Given the description of an element on the screen output the (x, y) to click on. 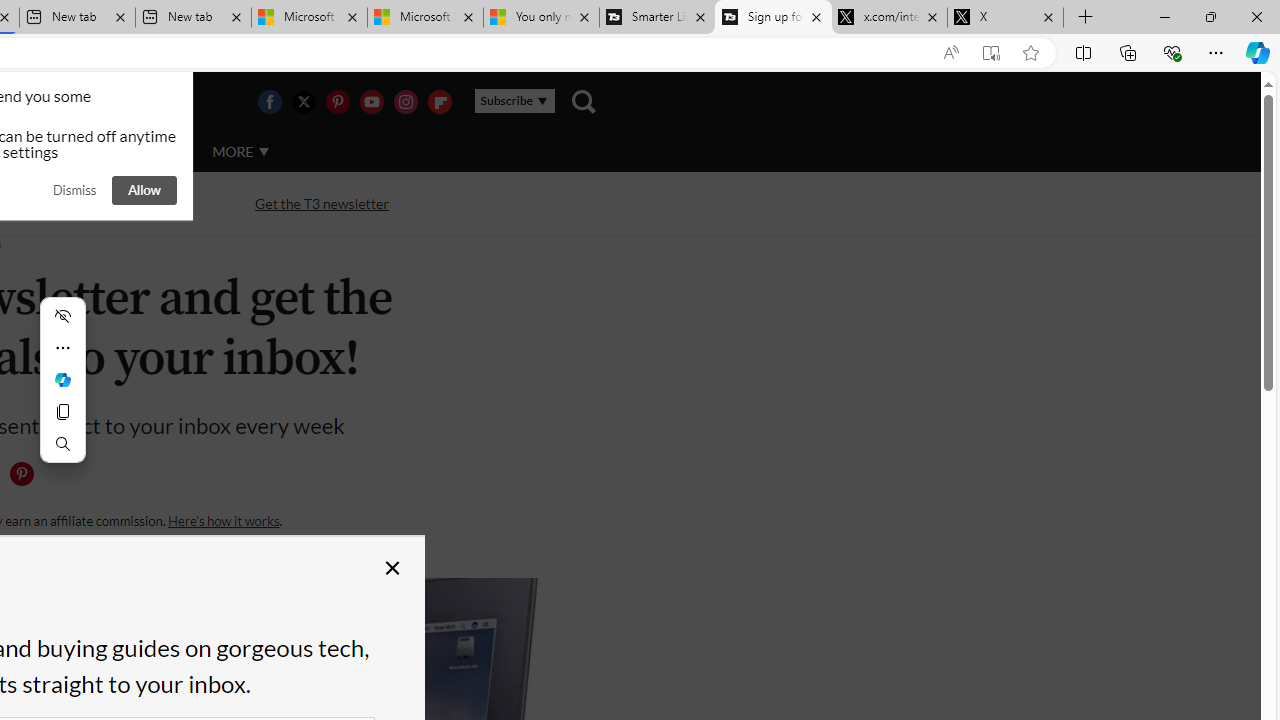
More actions (62, 347)
Copy (62, 411)
Settings and more (Alt+F) (1215, 52)
MORE  (239, 151)
Mini menu on text selection (62, 380)
Subscribe (514, 101)
Browser essentials (1171, 52)
Close tab (1048, 16)
LUXURY (66, 151)
Share this page on Pintrest (21, 474)
X (1005, 17)
Minimize (1164, 16)
LUXURY (66, 151)
